Given the description of an element on the screen output the (x, y) to click on. 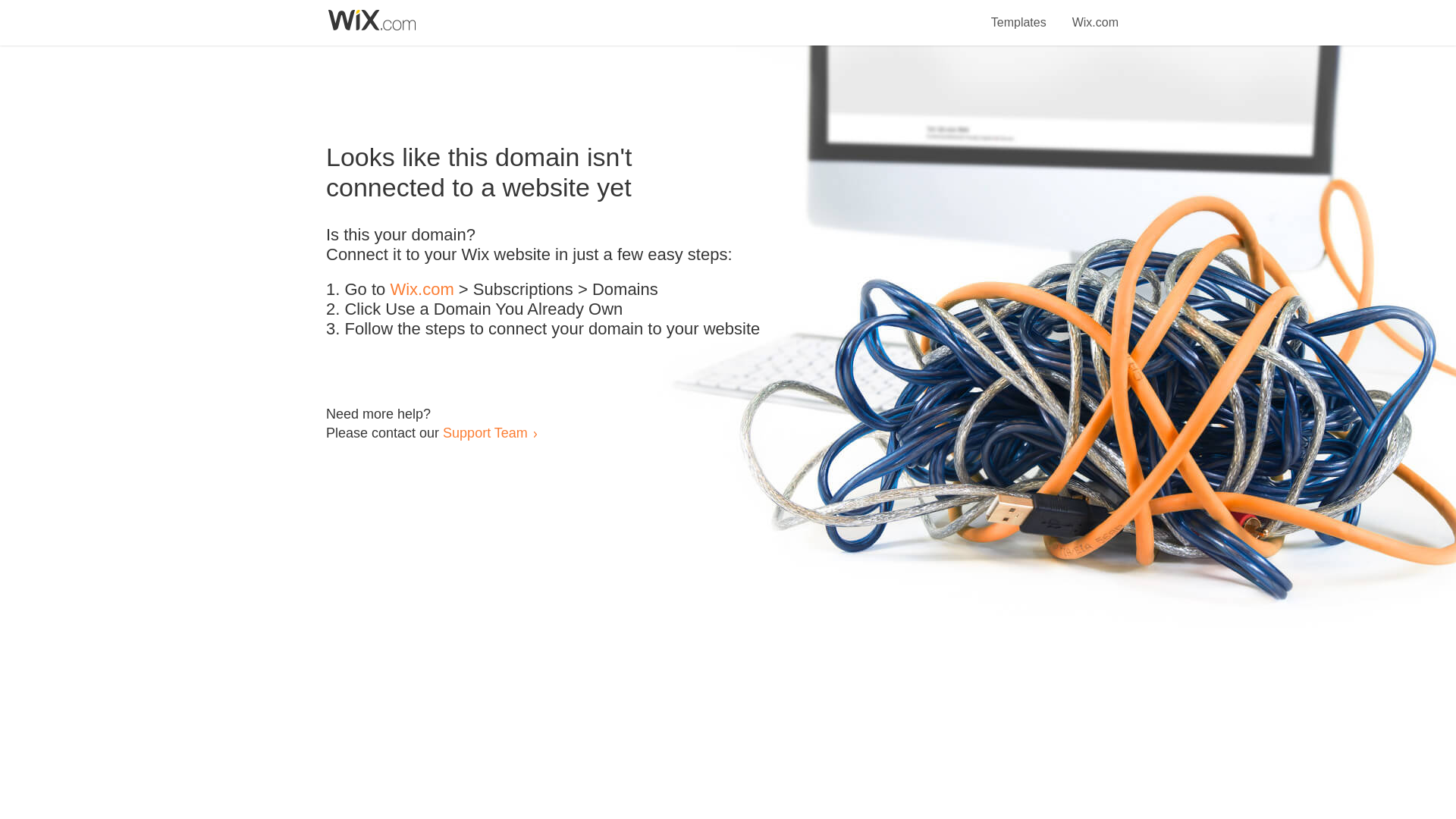
Wix.com (1095, 14)
Support Team (484, 432)
Wix.com (421, 289)
Templates (1018, 14)
